Given the description of an element on the screen output the (x, y) to click on. 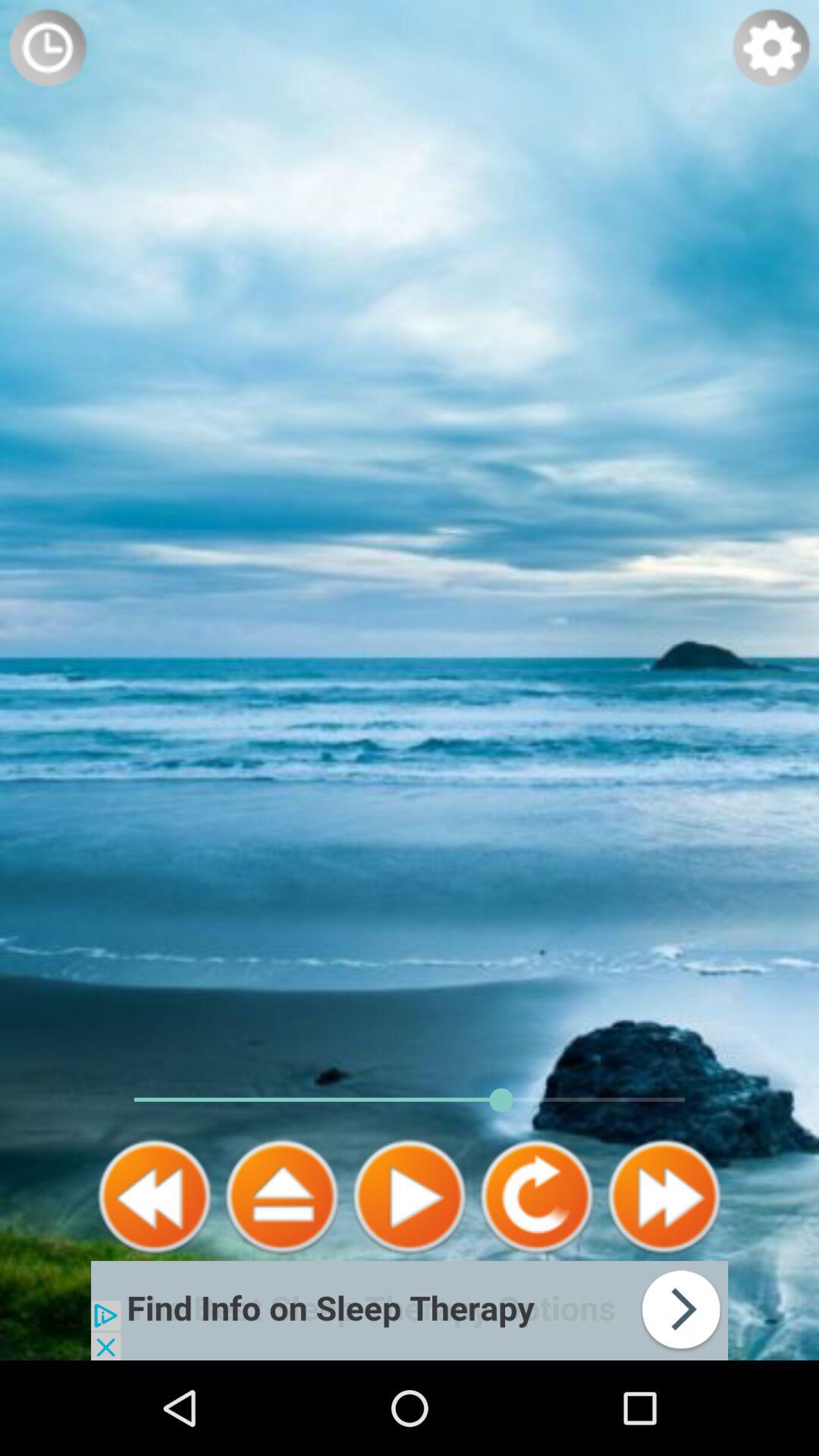
set timer (47, 47)
